Given the description of an element on the screen output the (x, y) to click on. 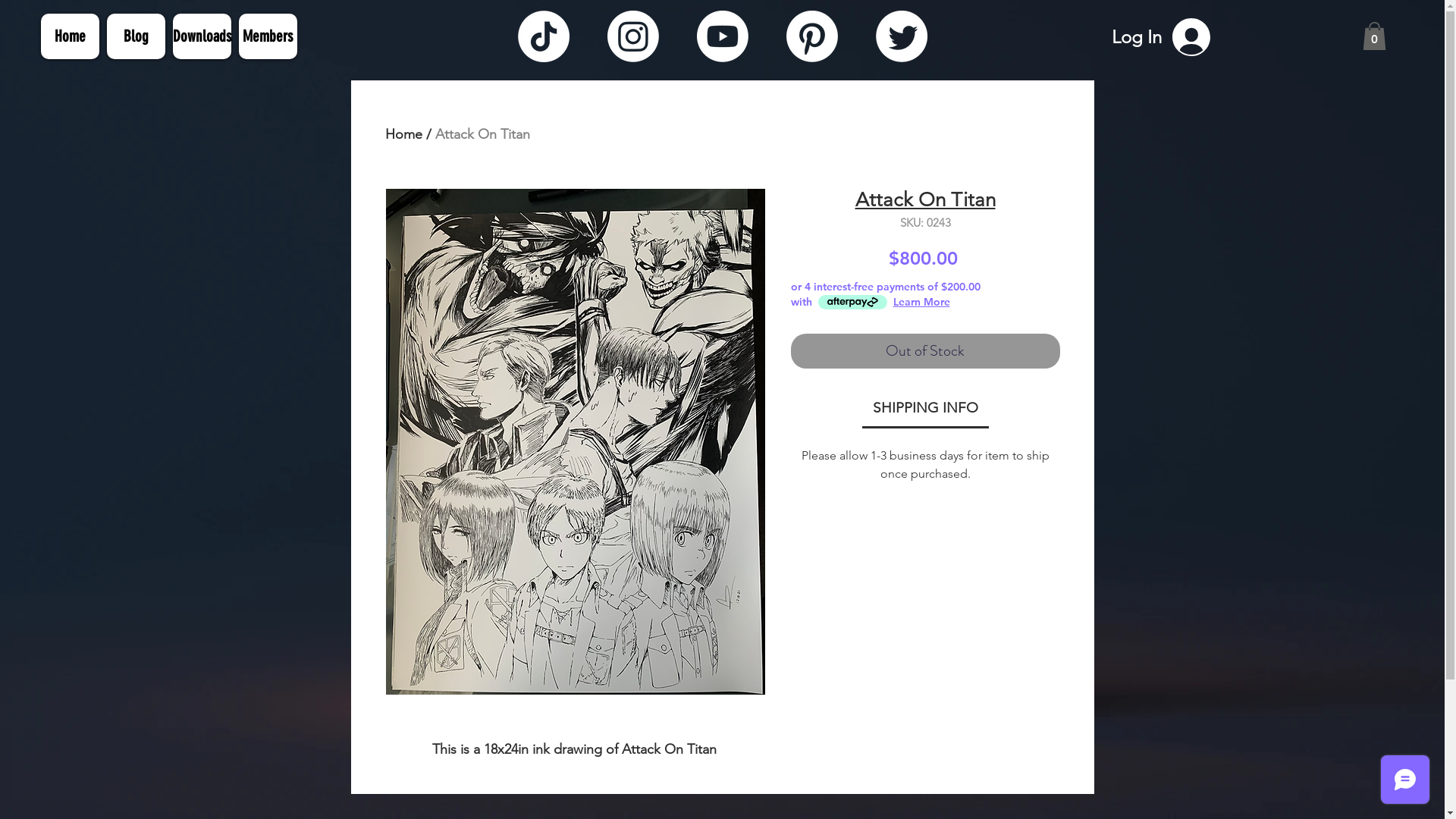
Learn More Element type: text (921, 301)
Out of Stock Element type: text (924, 350)
0 Element type: text (1373, 35)
Blog Element type: text (135, 36)
Log In Element type: text (1160, 36)
Home Element type: text (403, 133)
Home Element type: text (69, 36)
Members Element type: text (267, 36)
Downloads Element type: text (201, 36)
Attack On Titan Element type: text (482, 133)
